Given the description of an element on the screen output the (x, y) to click on. 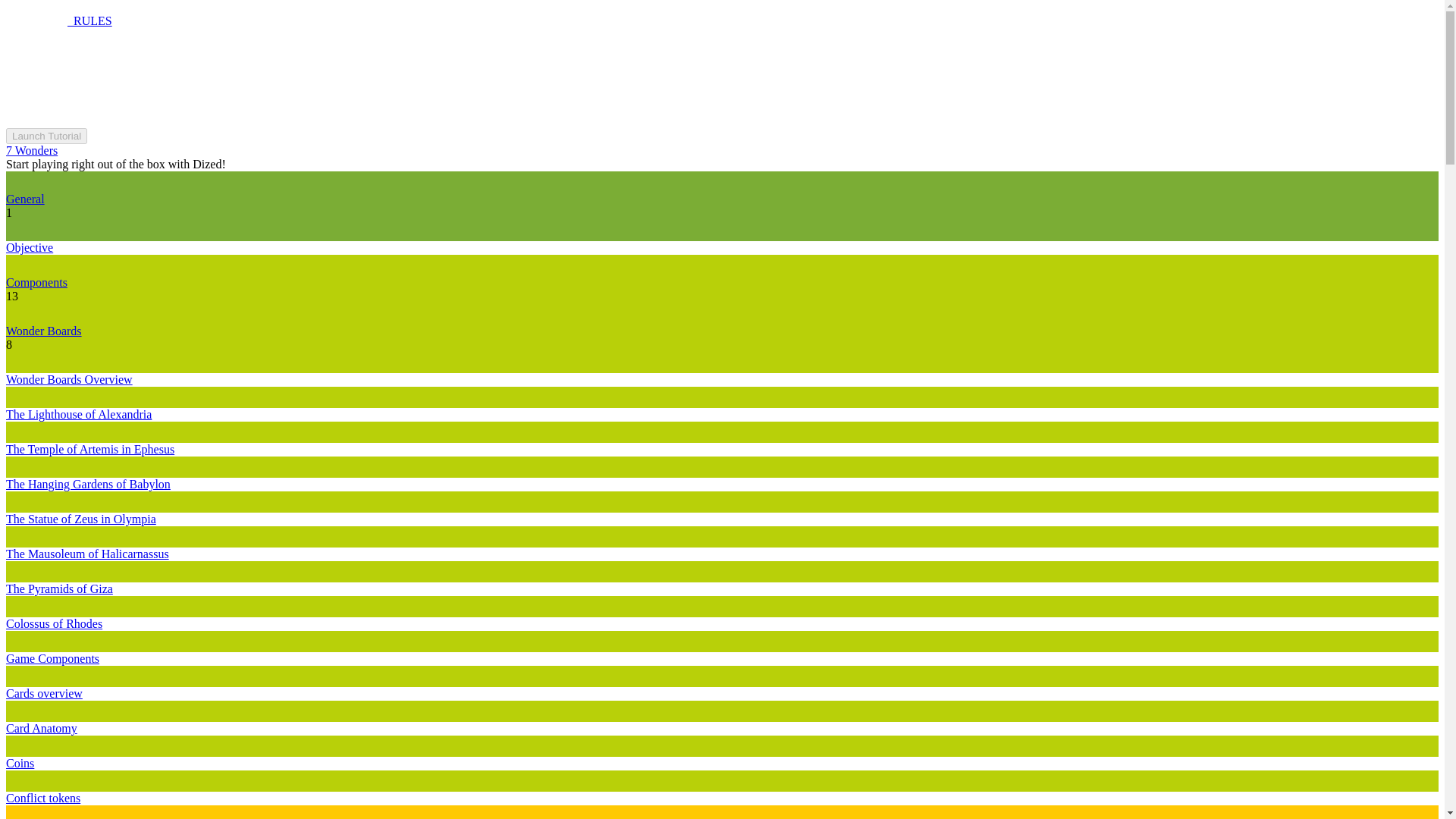
The Hanging Gardens of Babylon (87, 483)
Components (35, 282)
Game Components (52, 658)
Coins (19, 762)
Conflict tokens (42, 797)
7 Wonders (31, 150)
Launch Tutorial (46, 135)
Card Anatomy (41, 727)
Cards overview (43, 693)
Wonder Boards Overview (68, 379)
Wonder Boards (43, 330)
The Statue of Zeus in Olympia (80, 518)
The Lighthouse of Alexandria (78, 413)
The Pyramids of Giza (59, 588)
The Mausoleum of Halicarnassus (86, 553)
